Given the description of an element on the screen output the (x, y) to click on. 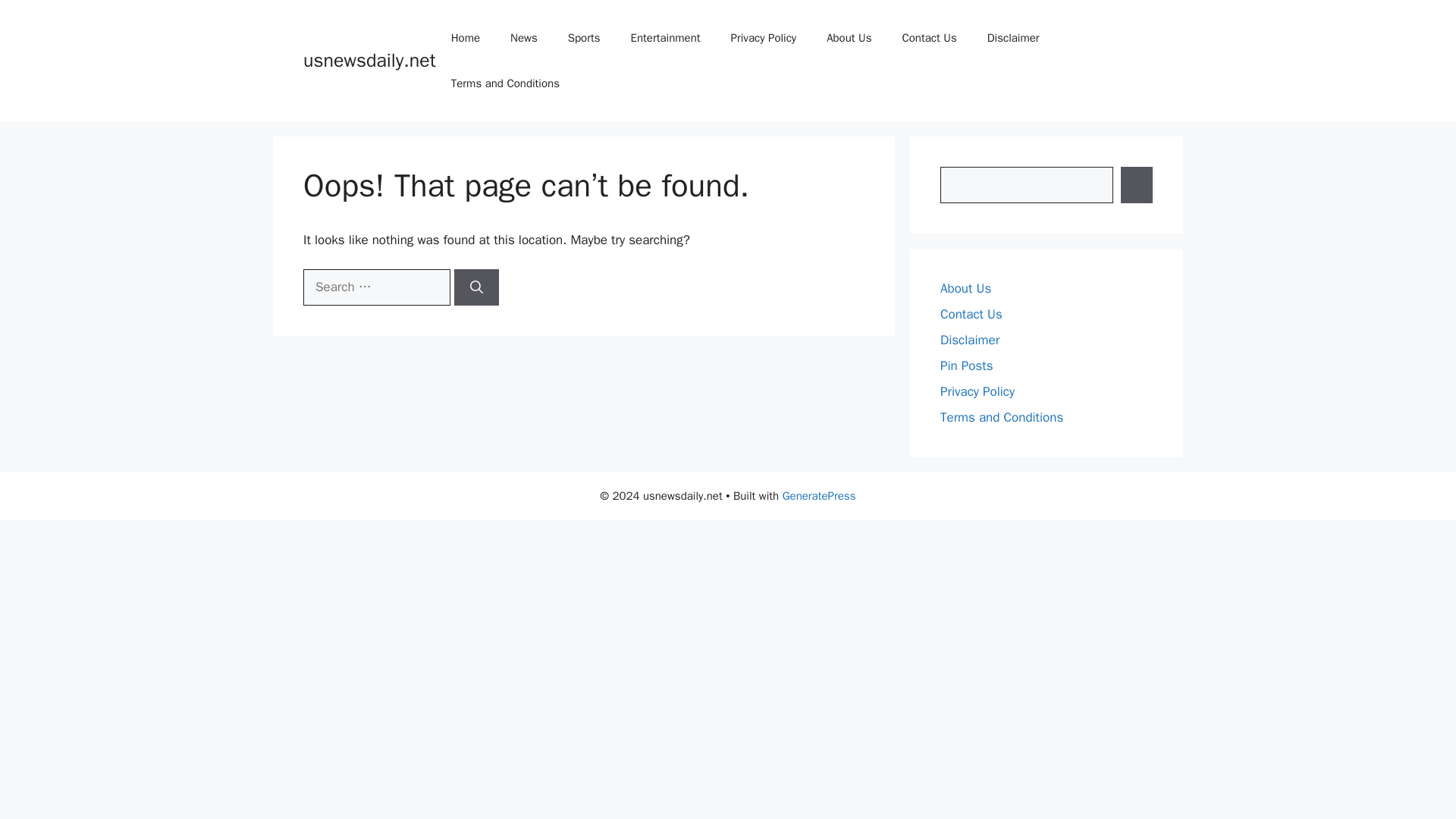
Entertainment (70, 151)
Sports (51, 137)
Contact Us (63, 192)
Skip to content (42, 11)
Pin Posts (58, 418)
Contact Us (63, 391)
Skip to content (42, 11)
Terms and Conditions (89, 219)
Menu (34, 65)
Terms and Conditions (89, 445)
